Given the description of an element on the screen output the (x, y) to click on. 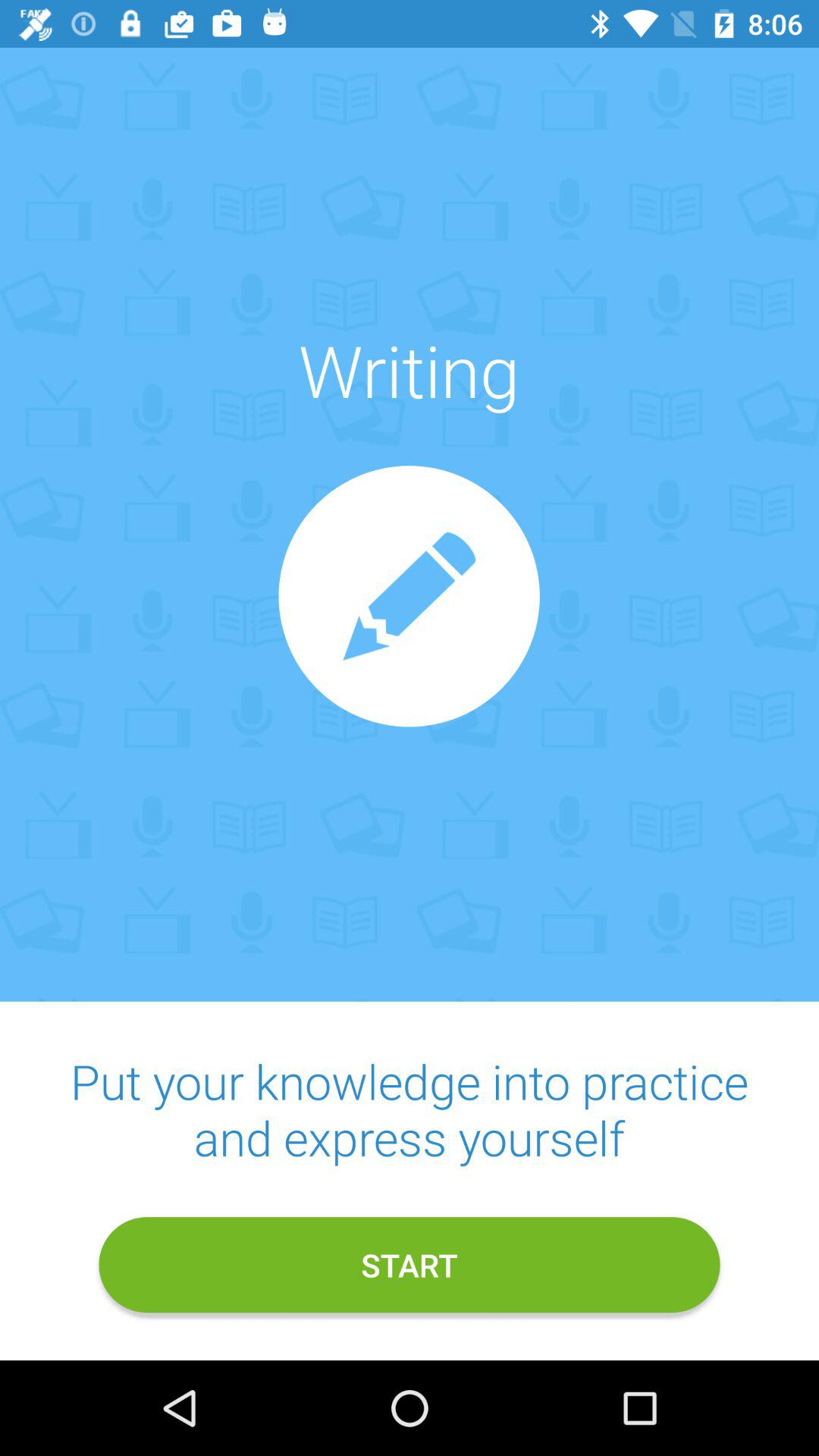
launch item below the put your knowledge (409, 1264)
